Given the description of an element on the screen output the (x, y) to click on. 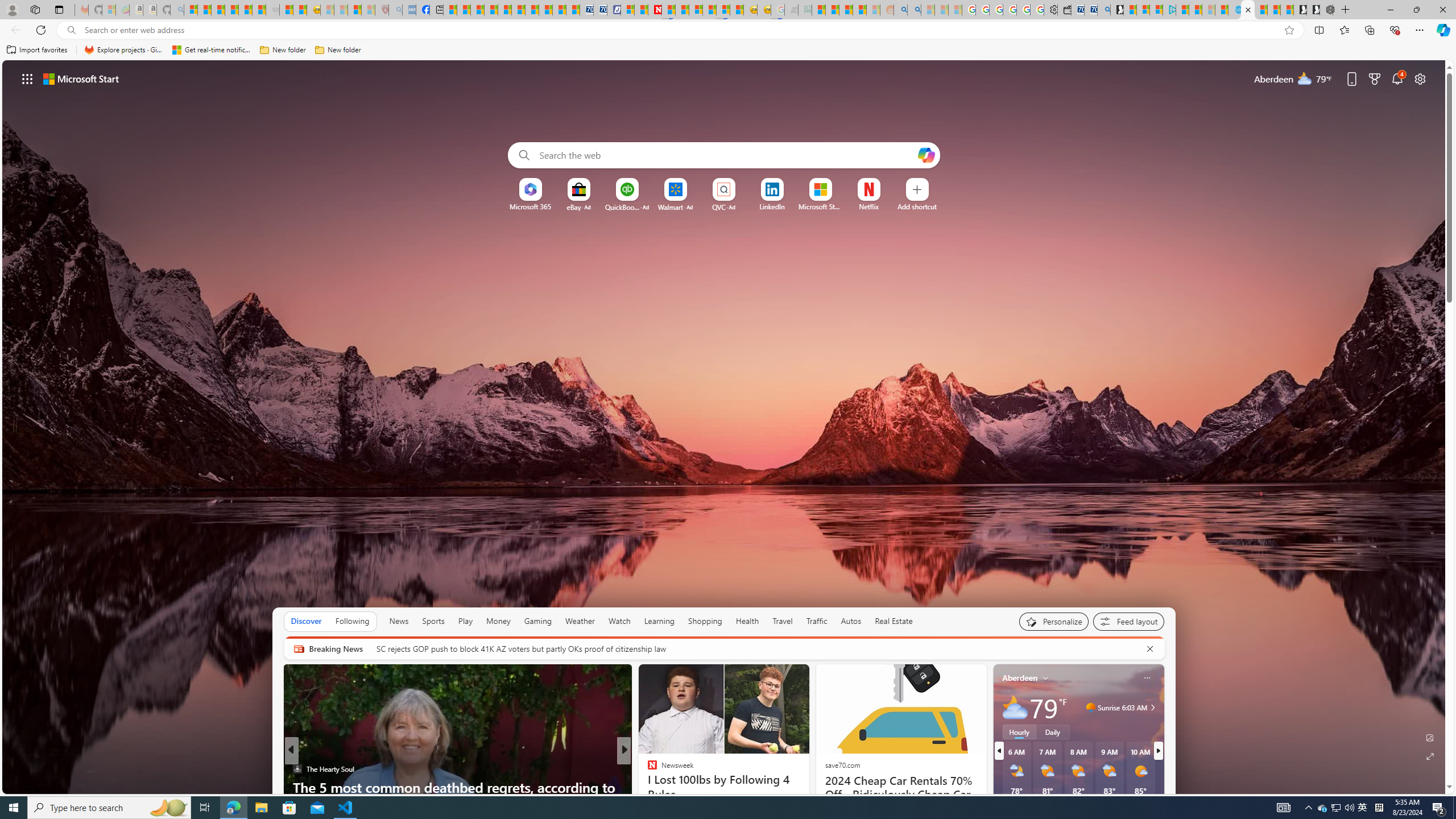
Sunrise 6:03 AM (1150, 707)
Expand background (1430, 756)
Class: icon-img (1146, 677)
Body Network (647, 768)
Cheap Hotels - Save70.com (599, 9)
